Given the description of an element on the screen output the (x, y) to click on. 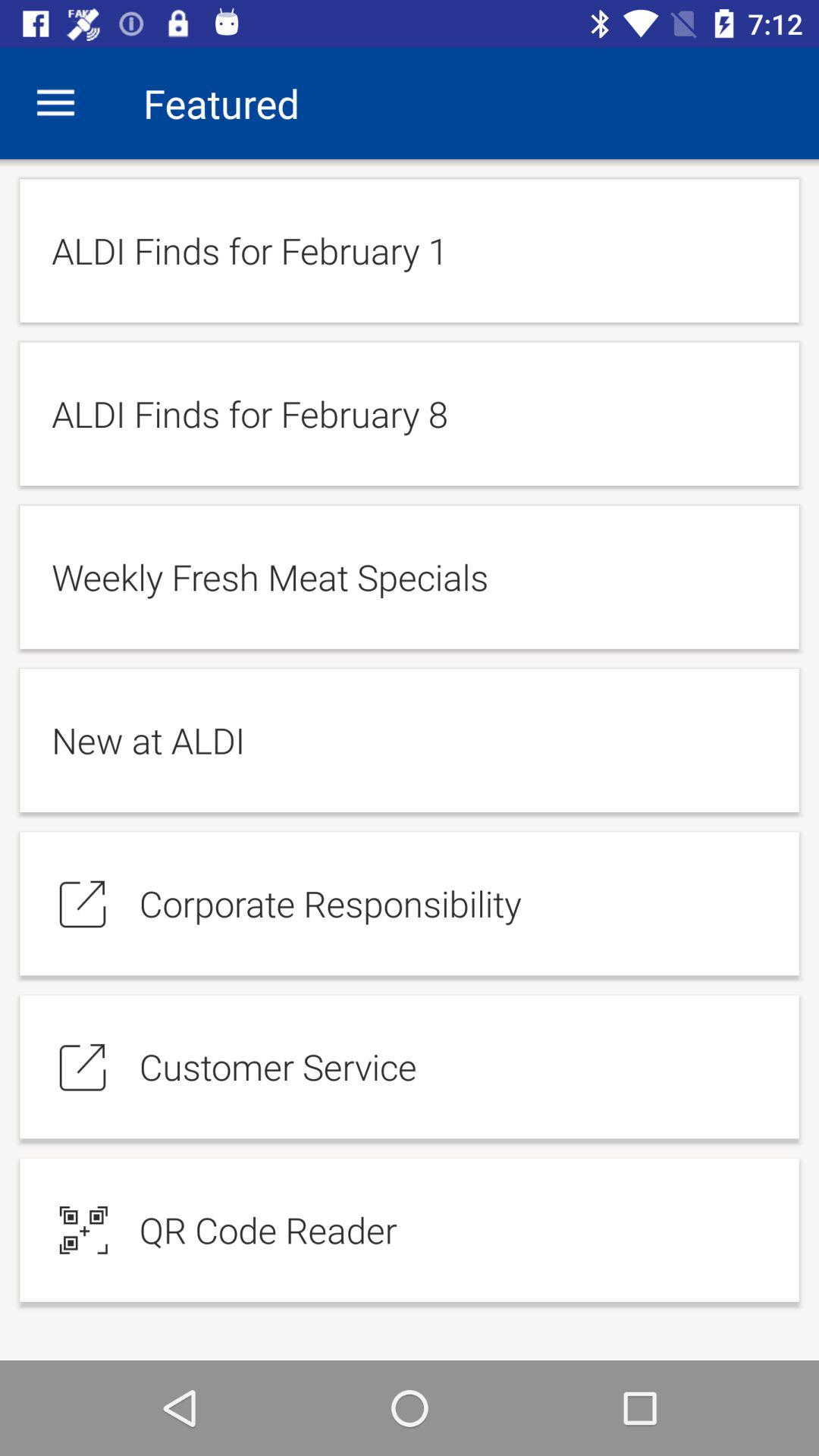
select the text below featured (409, 250)
click the customer service button on the web page (409, 1066)
click on the button below customer service (409, 1229)
select the icon on left to the customer service button on the web page (83, 1067)
